Given the description of an element on the screen output the (x, y) to click on. 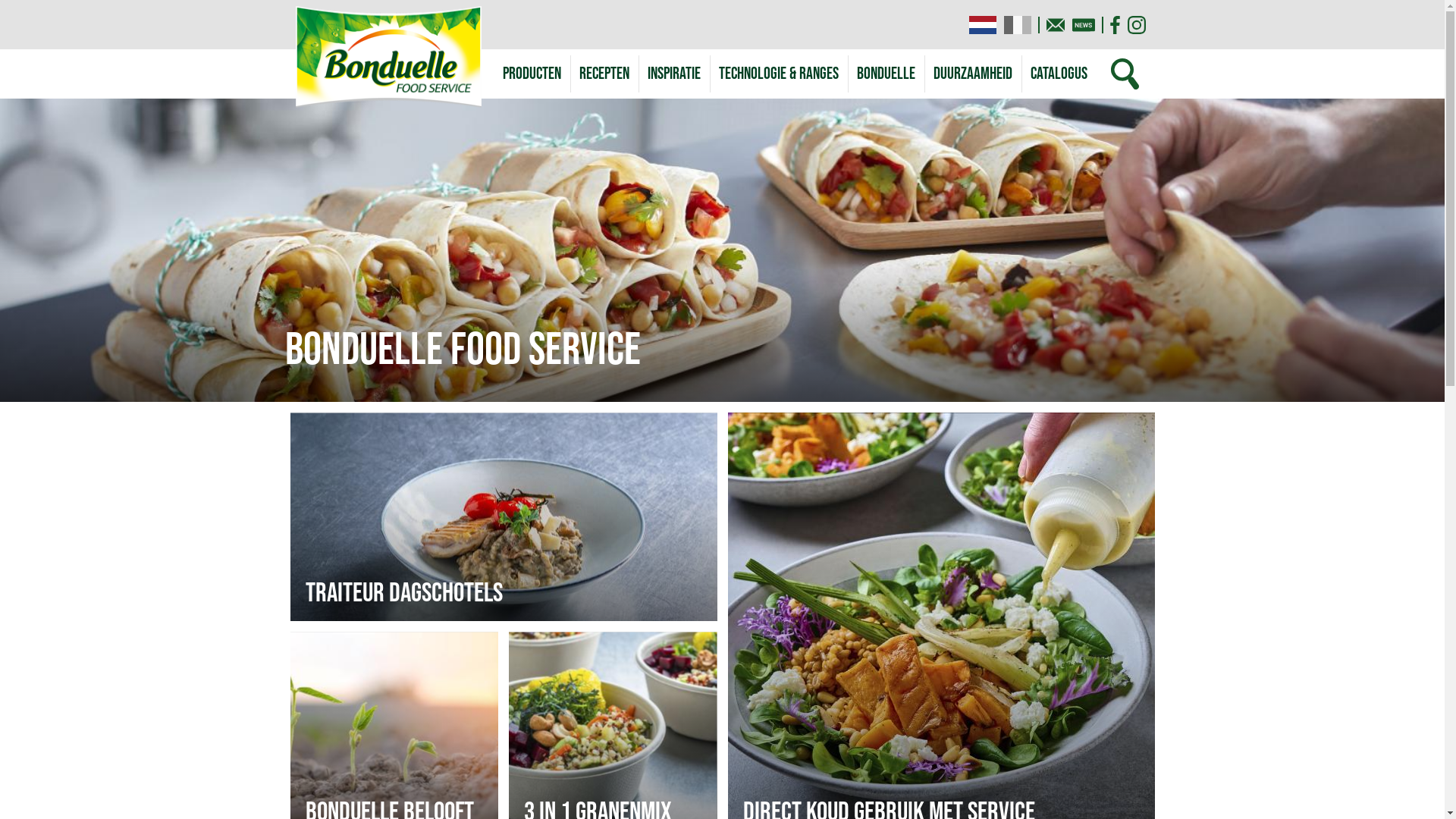
CATALOGUS Element type: text (1057, 73)
PRODUCTEN Element type: text (530, 73)
TECHNOLOGIE & RANGES Element type: text (778, 73)
INSPIRATIE Element type: text (673, 73)
RECEPTEN Element type: text (604, 73)
Contact Element type: hover (1055, 24)
BONDUELLE Element type: text (885, 73)
Nieuwsbrief Bonduelle Service Element type: hover (1083, 24)
TRAITEUR DAGSCHOTELS Element type: text (502, 516)
Facebook Element type: hover (1115, 24)
DUURZAAMHEID Element type: text (971, 73)
Instagram Element type: hover (1135, 24)
